Given the description of an element on the screen output the (x, y) to click on. 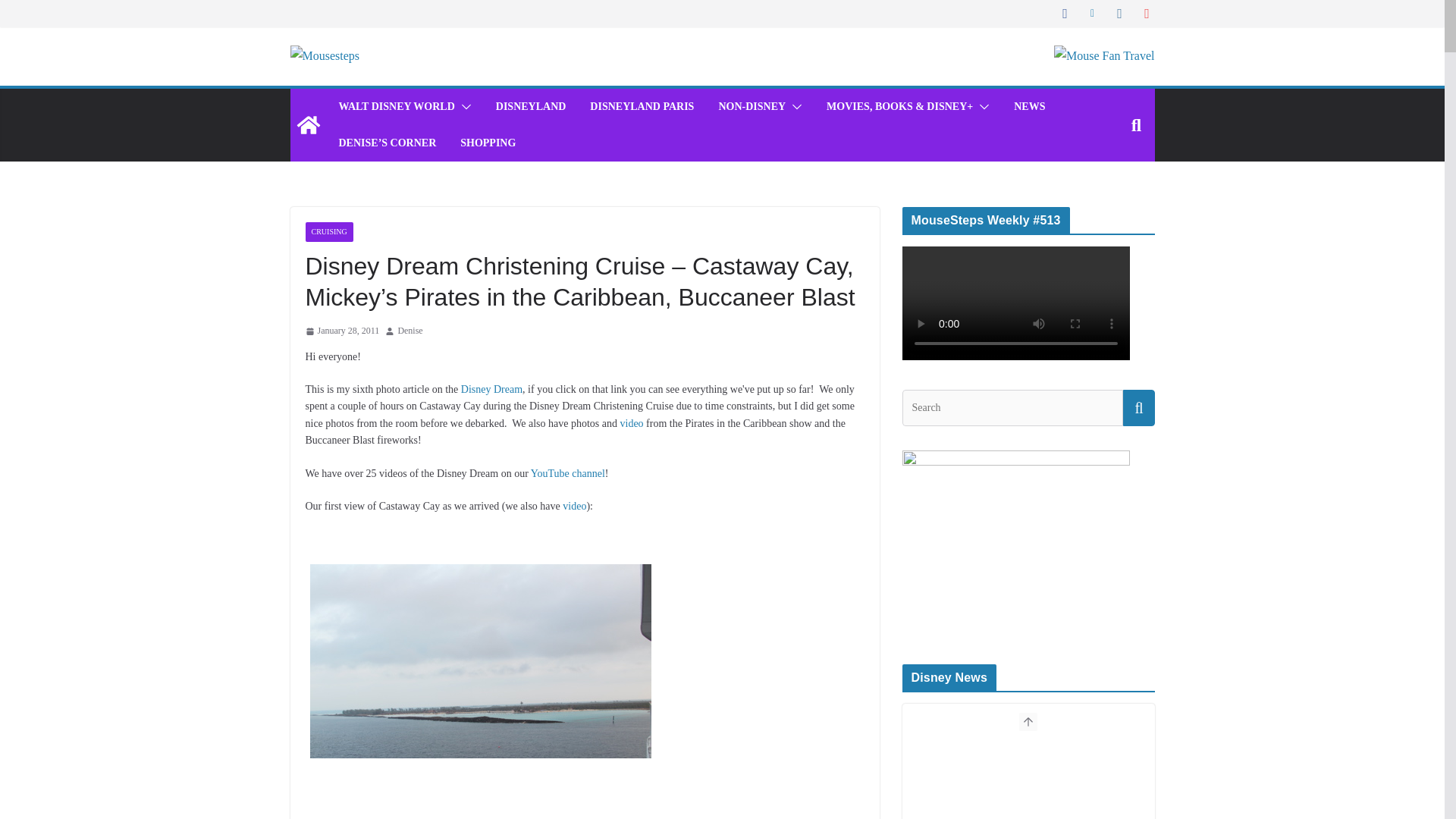
Mousesteps (307, 125)
Image (479, 691)
Denise (409, 330)
WALT DISNEY WORLD (395, 106)
7:48 pm (341, 330)
